Given the description of an element on the screen output the (x, y) to click on. 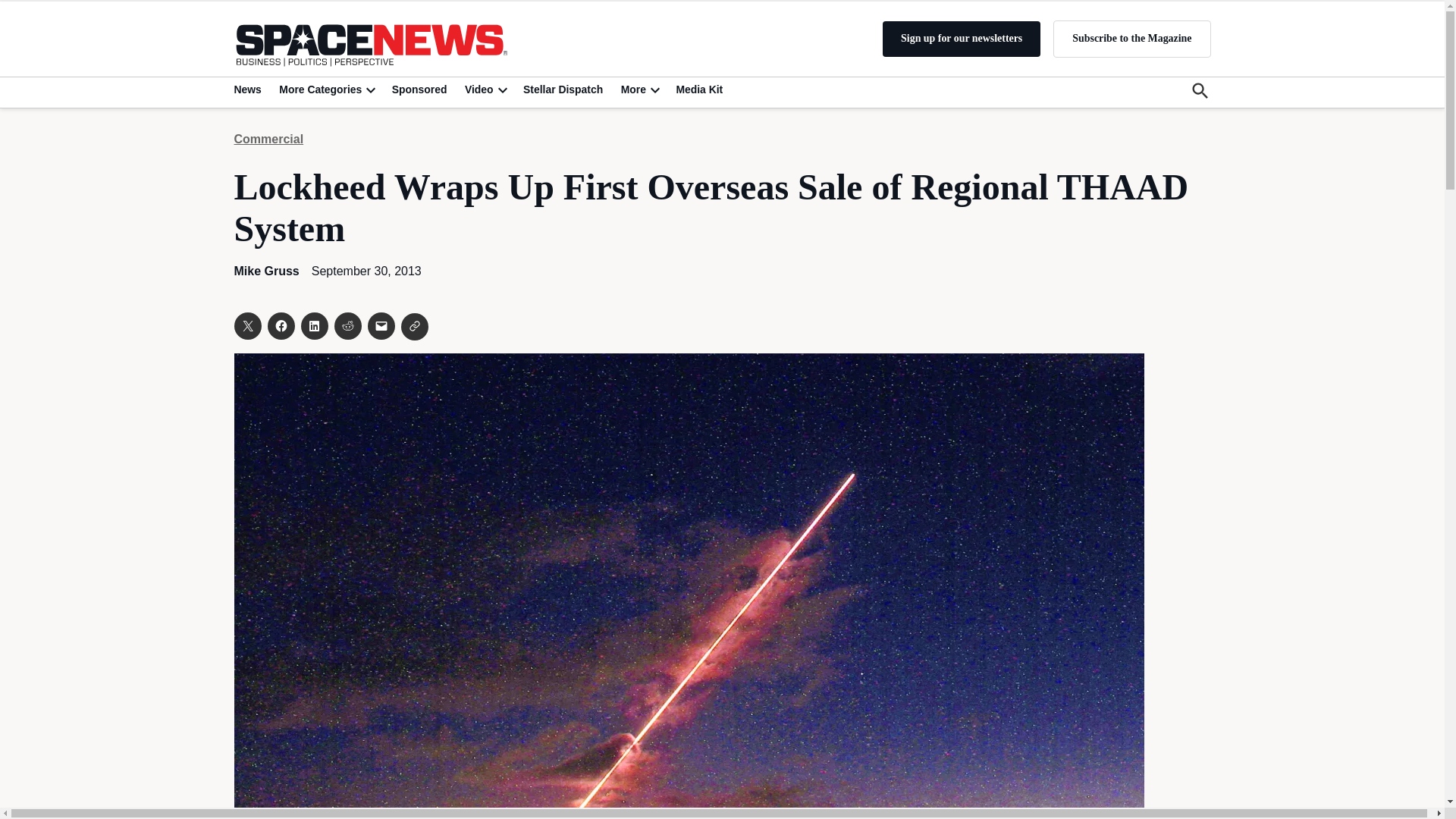
Click to share on Clipboard (414, 326)
Subscribe to the Magazine (1130, 38)
Click to share on LinkedIn (313, 325)
Sign up for our newsletters (961, 38)
Click to share on Reddit (347, 325)
Click to share on Facebook (280, 325)
Click to email a link to a friend (380, 325)
Click to share on X (246, 325)
